Given the description of an element on the screen output the (x, y) to click on. 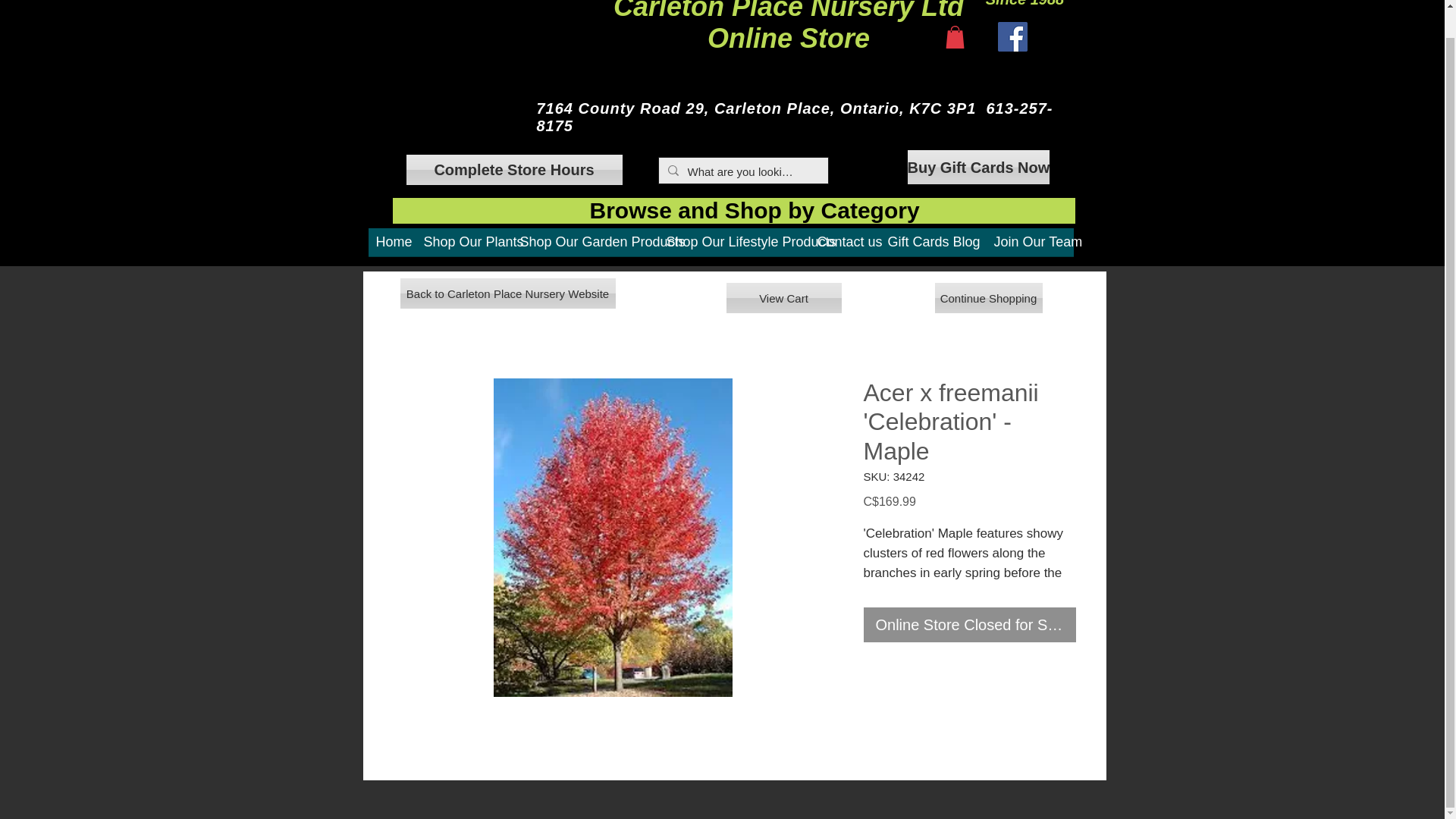
Back to Carleton Place Nursery Website (507, 293)
Buy Gift Cards Now (978, 166)
View Cart (783, 297)
Shop Our Garden Products (585, 247)
Home (392, 247)
Complete Store Hours (514, 169)
Shop Our Lifestyle Products (733, 247)
Join Our Team (1029, 247)
Contact us (787, 27)
Continue Shopping (844, 247)
Gift Cards (988, 297)
Shop Our Plants (911, 247)
Blog (463, 247)
Online Store Closed for Season (964, 247)
